Given the description of an element on the screen output the (x, y) to click on. 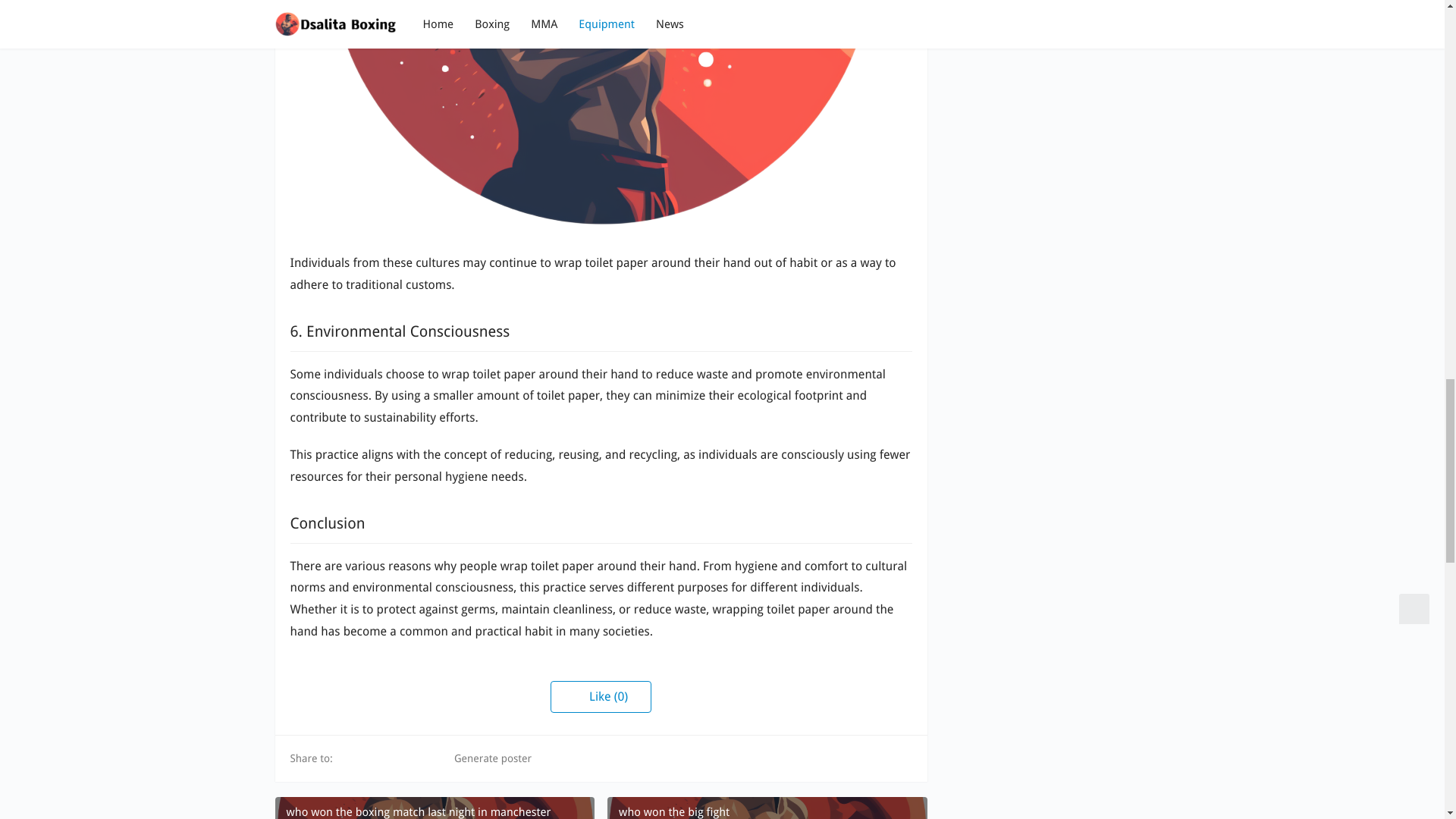
who won the big fight (766, 807)
who won the boxing match last night in manchester (434, 807)
why do people wrap toilet paper around their hand (601, 115)
who won the big fight (766, 807)
who won the boxing match last night in manchester (434, 807)
Generate poster (483, 757)
